Given the description of an element on the screen output the (x, y) to click on. 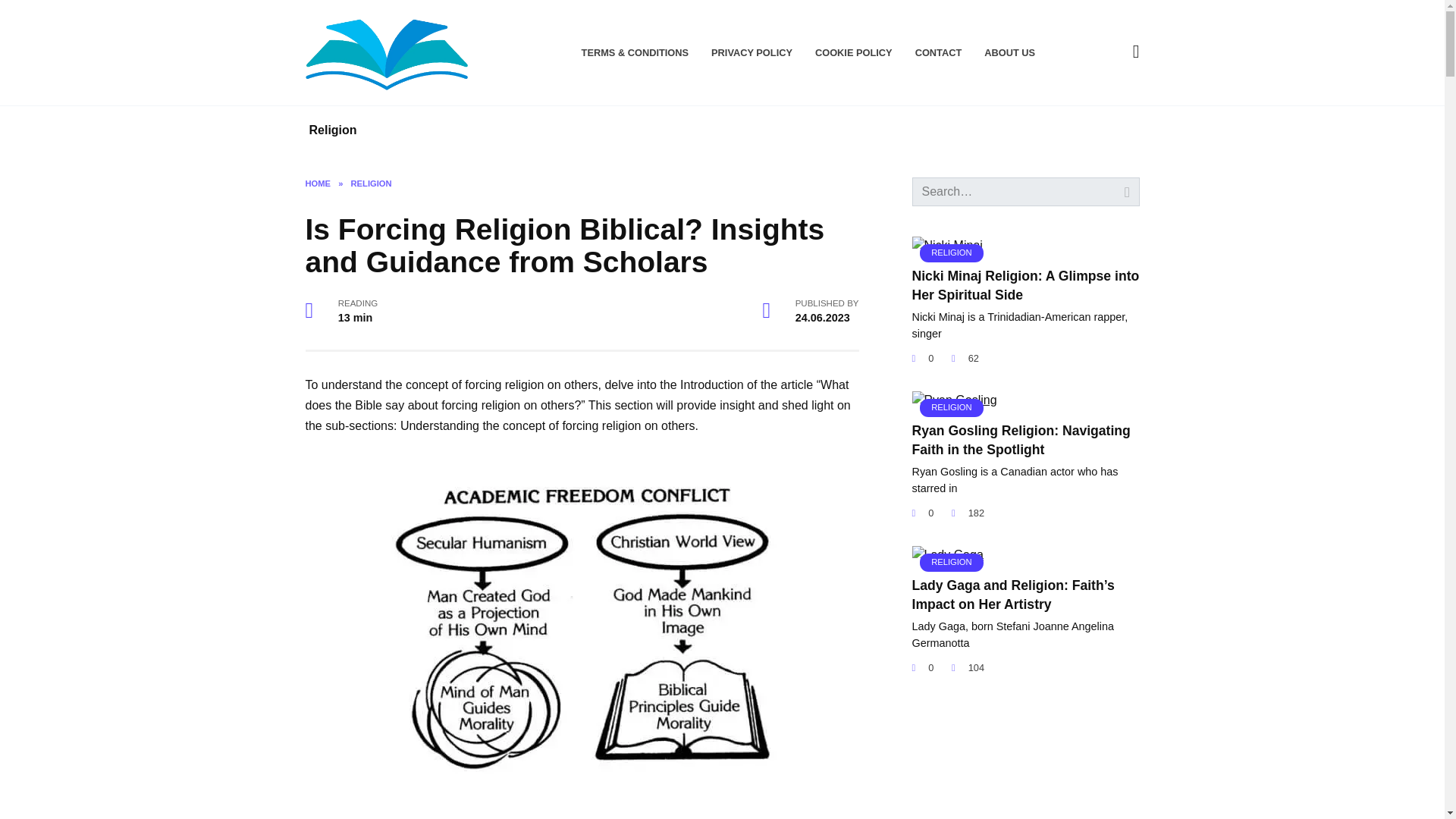
Nicki Minaj Religion: A Glimpse into Her Spiritual Side (1024, 284)
ABOUT US (1009, 52)
RELIGION (946, 245)
PRIVACY POLICY (751, 52)
COOKIE POLICY (853, 52)
CONTACT (938, 52)
RELIGION (953, 399)
Religion (332, 130)
RELIGION (946, 554)
RELIGION (370, 183)
